Given the description of an element on the screen output the (x, y) to click on. 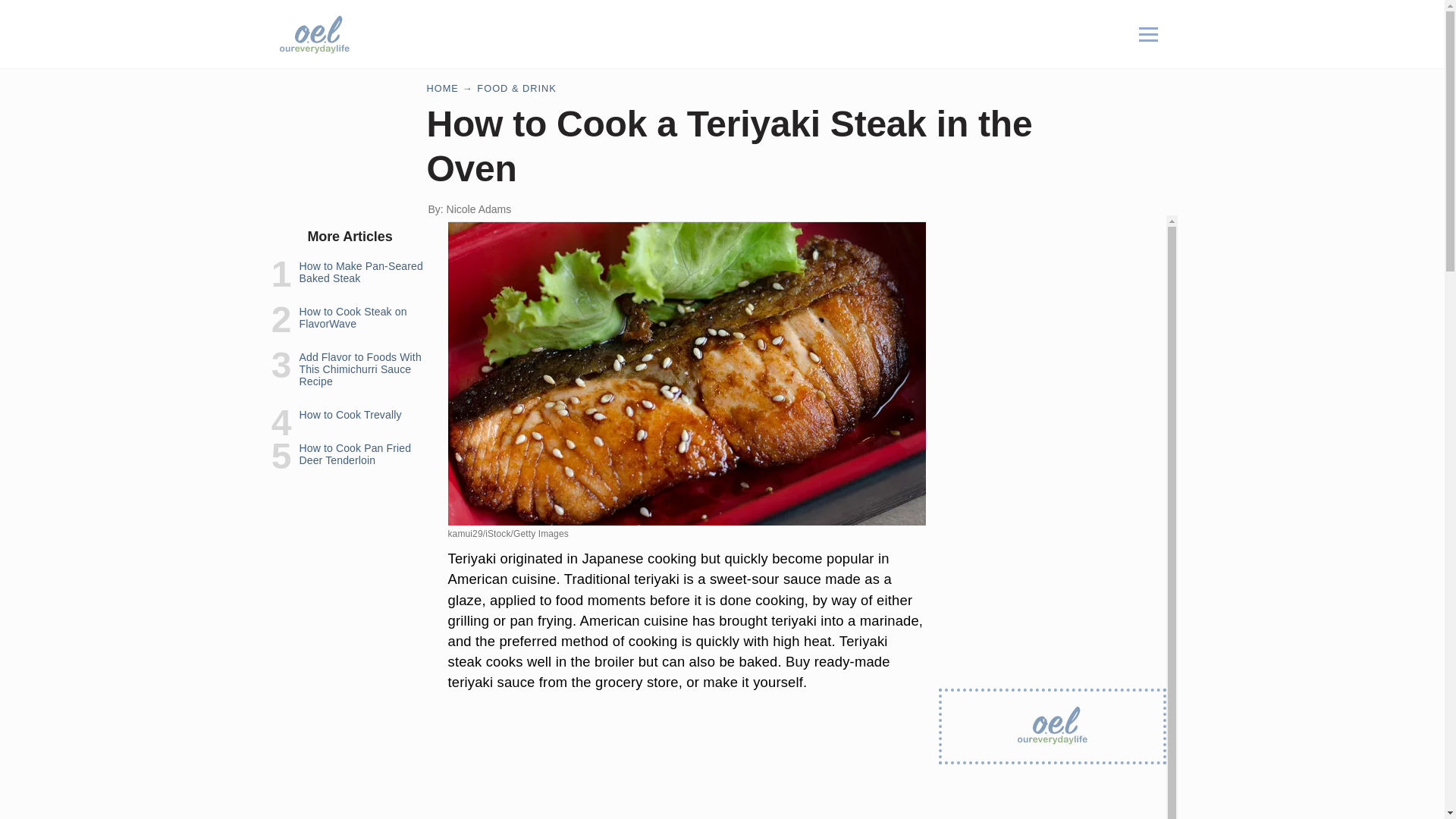
How to Cook Pan Fried Deer Tenderloin (354, 454)
How to Make Pan-Seared Baked Steak (360, 272)
How to Cook Trevally (349, 414)
How to Cook Steak on FlavorWave (352, 317)
Add Flavor to Foods With This Chimichurri Sauce Recipe (359, 369)
HOME (442, 88)
